Given the description of an element on the screen output the (x, y) to click on. 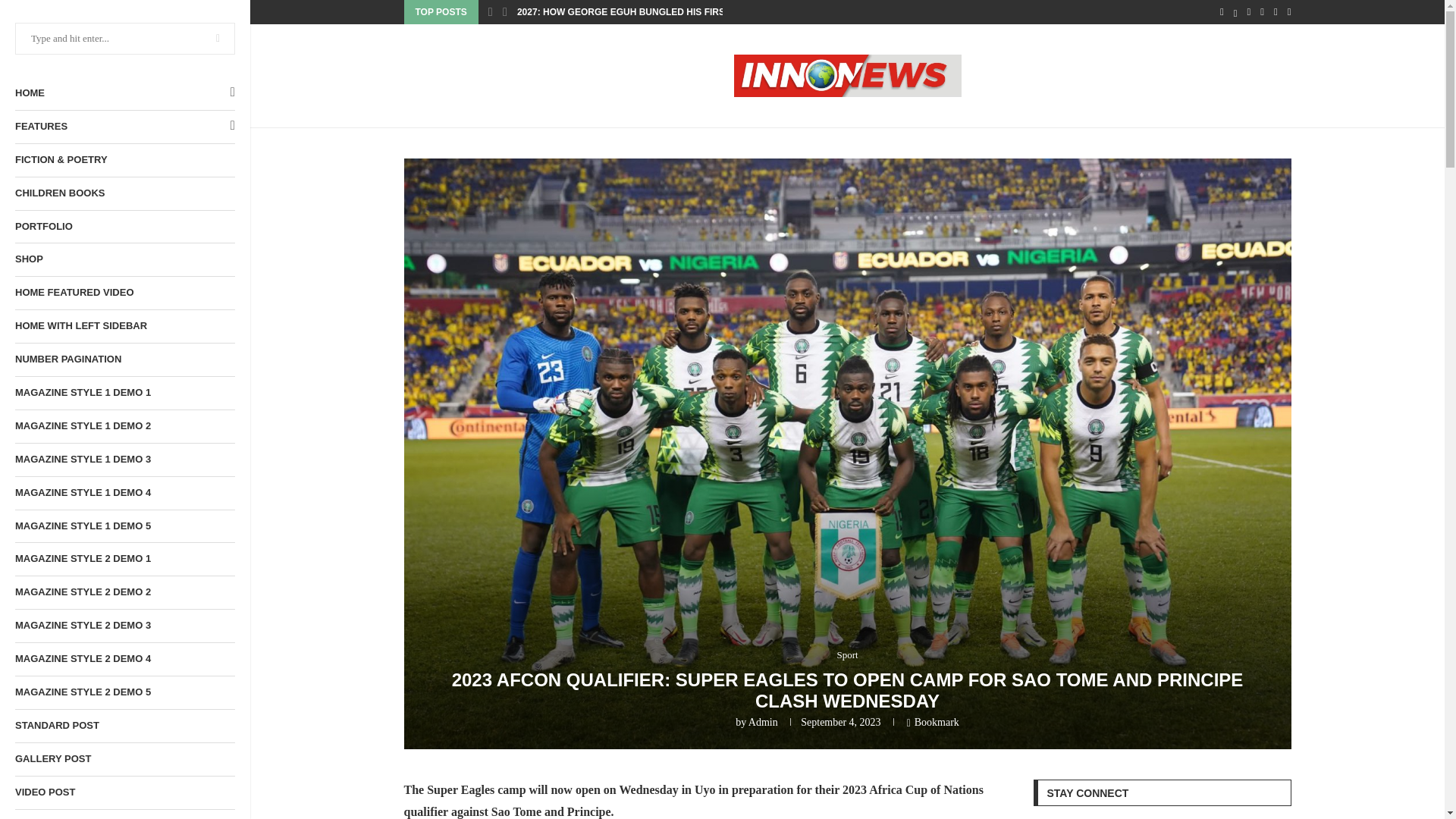
HOME (124, 92)
